Given the description of an element on the screen output the (x, y) to click on. 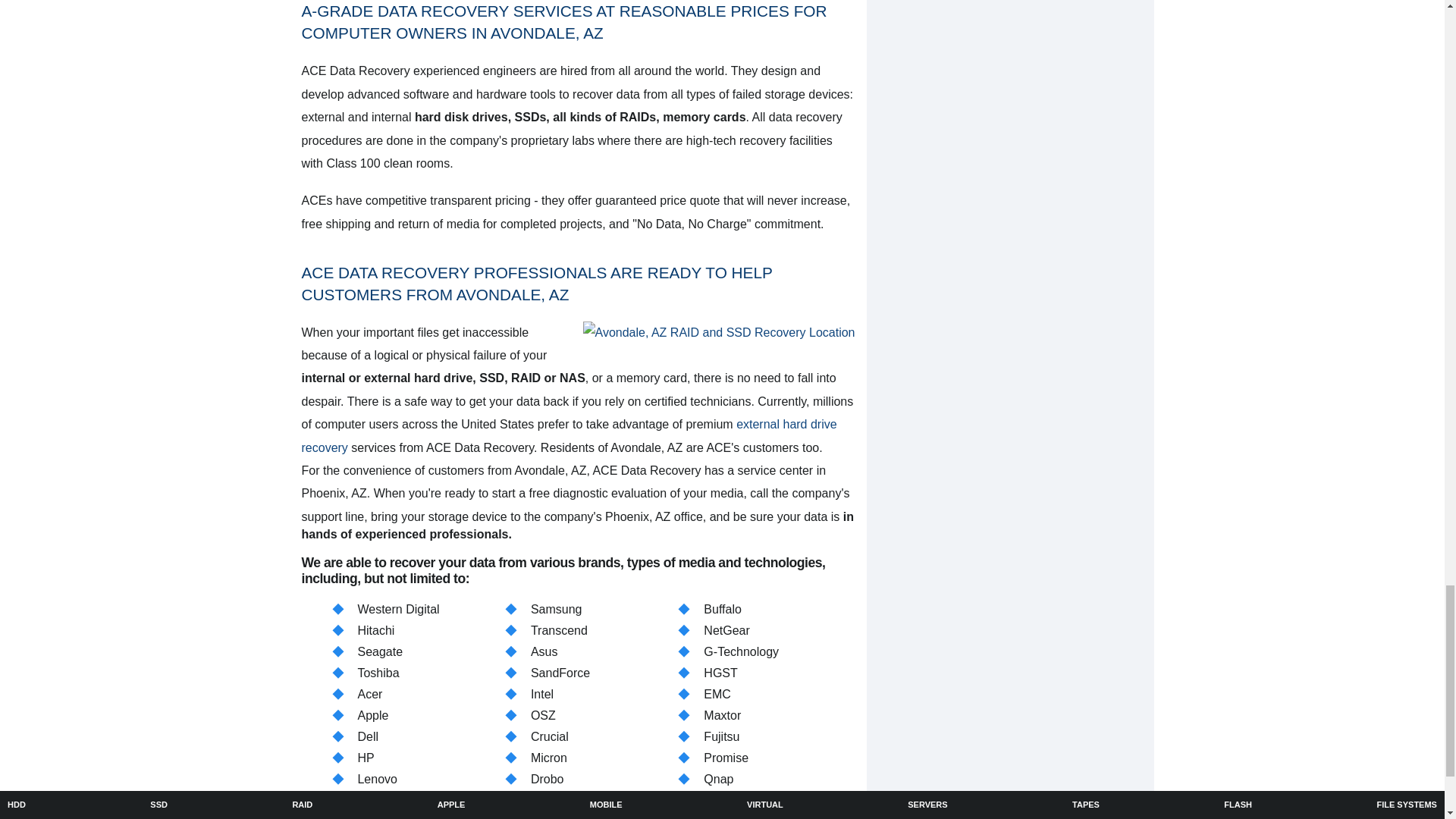
Avondale, AZ  RAID and SSD Recovery Location (718, 332)
